Given the description of an element on the screen output the (x, y) to click on. 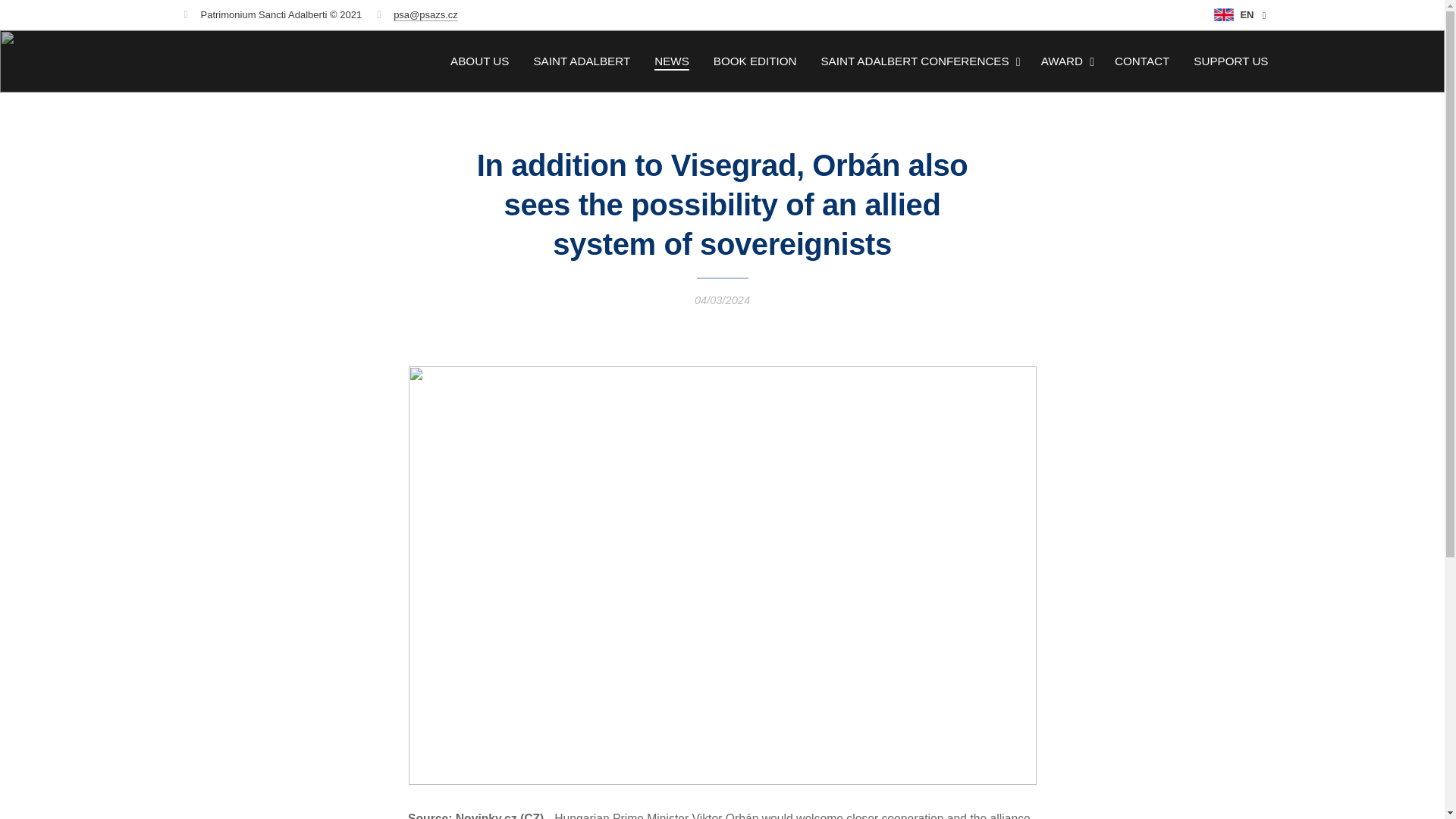
SAINT ADALBERT CONFERENCES (917, 61)
ABOUT US (483, 61)
CONTACT (1141, 61)
BOOK EDITION (755, 61)
SUPPORT US (1224, 61)
SAINT ADALBERT (581, 61)
AWARD (1065, 61)
NEWS (671, 61)
